Given the description of an element on the screen output the (x, y) to click on. 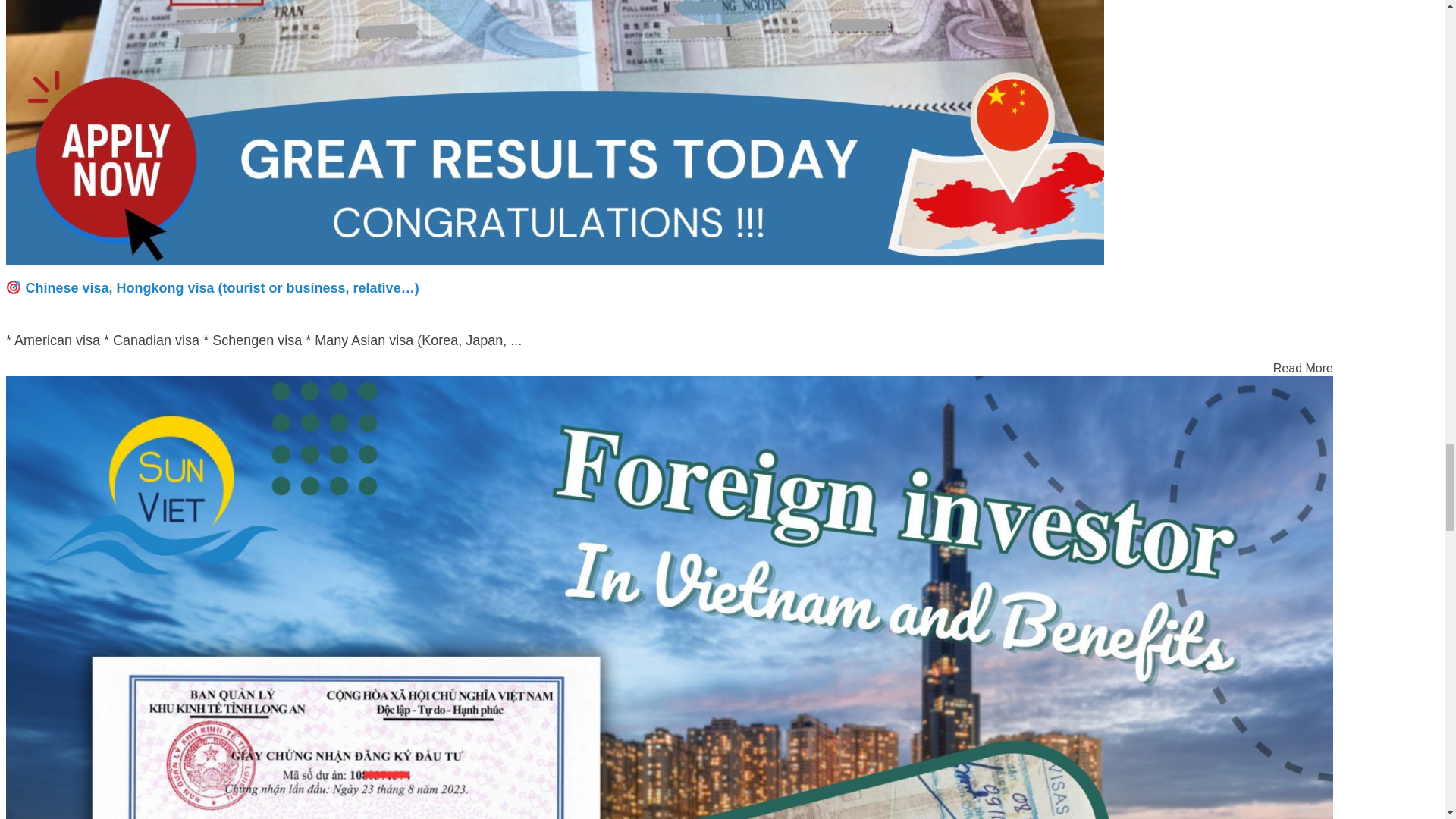
Read More (1302, 367)
